Given the description of an element on the screen output the (x, y) to click on. 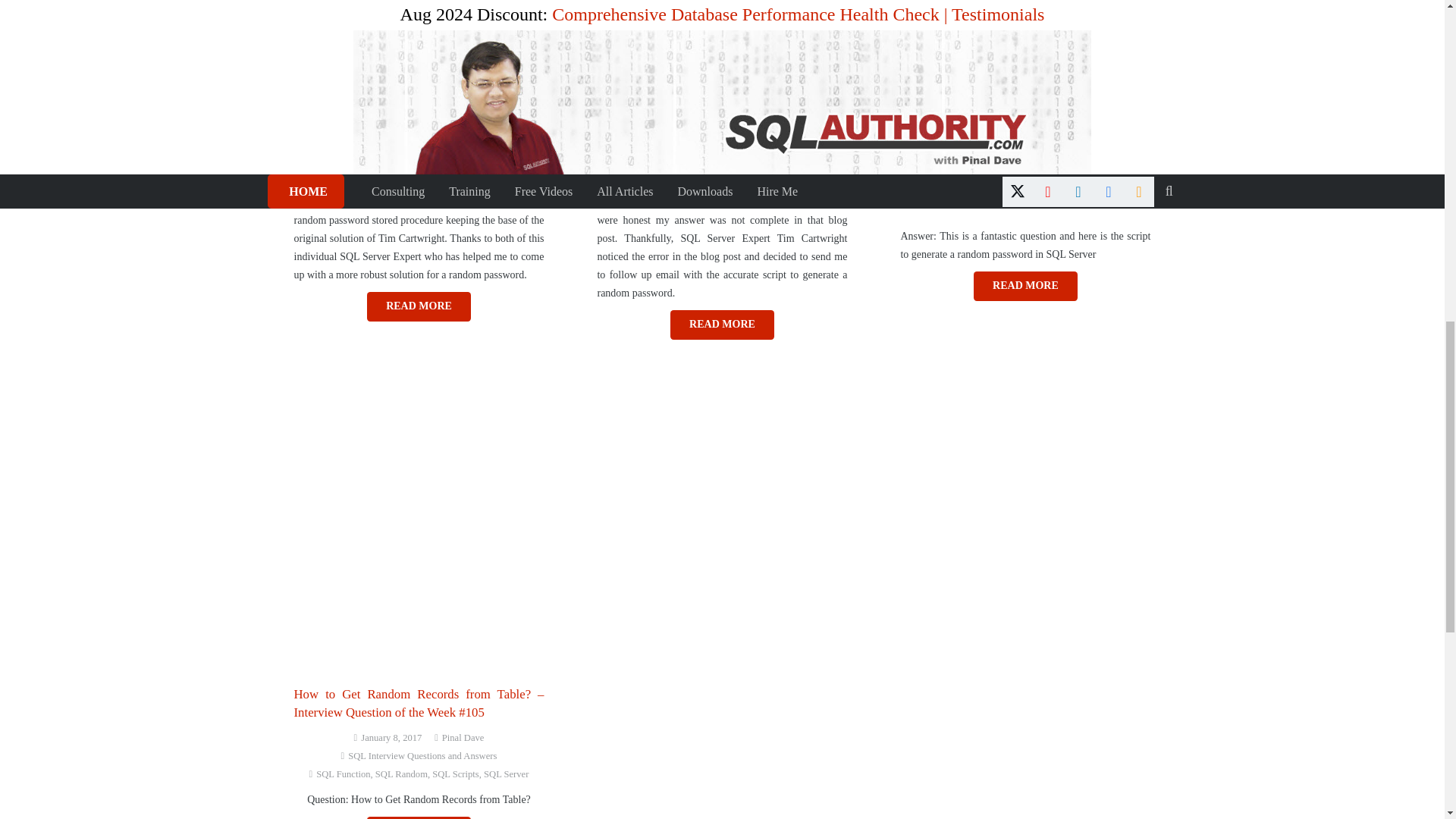
Back to top (1413, 26)
